Given the description of an element on the screen output the (x, y) to click on. 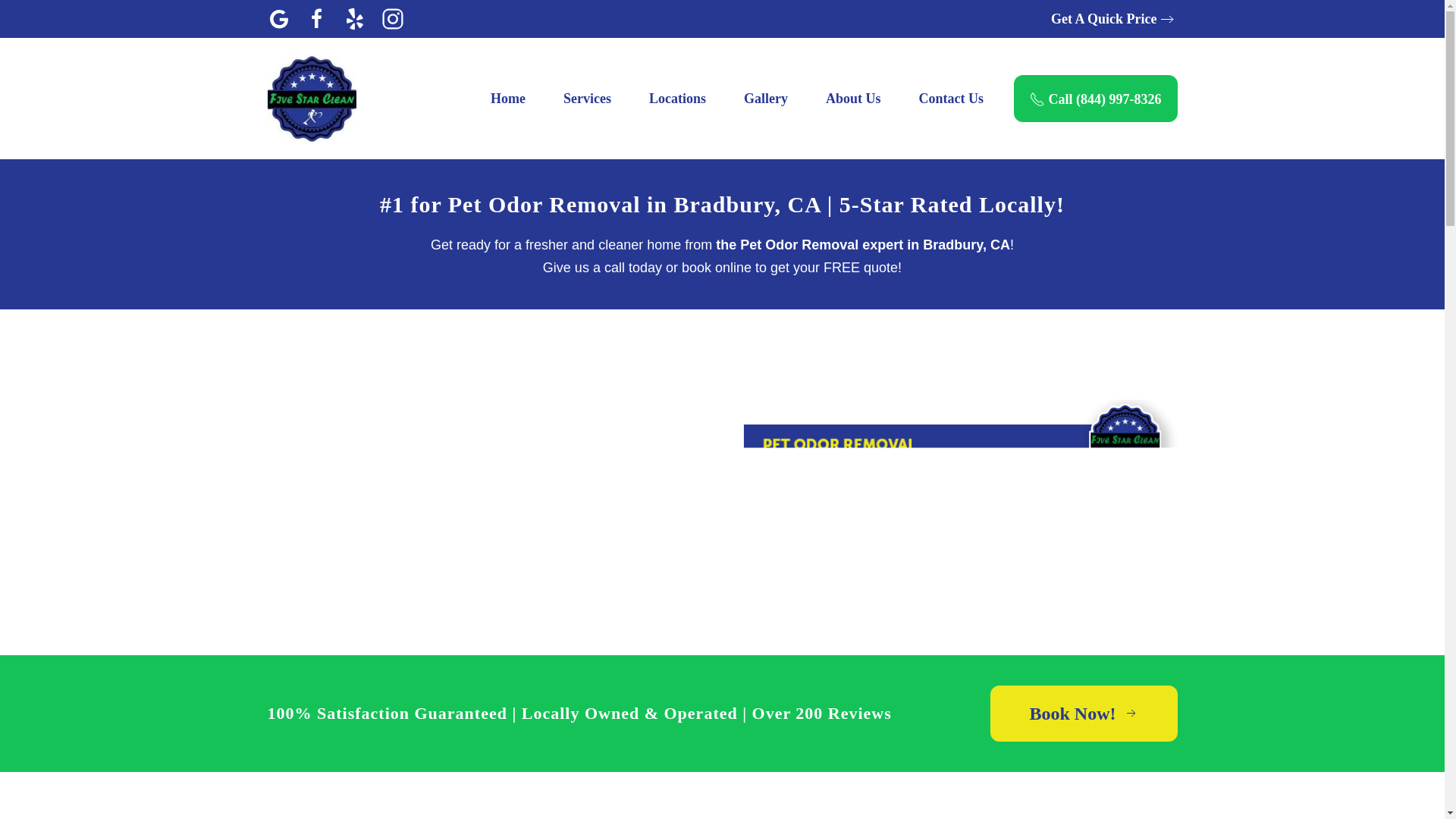
Get A Quick Price (1113, 19)
